Given the description of an element on the screen output the (x, y) to click on. 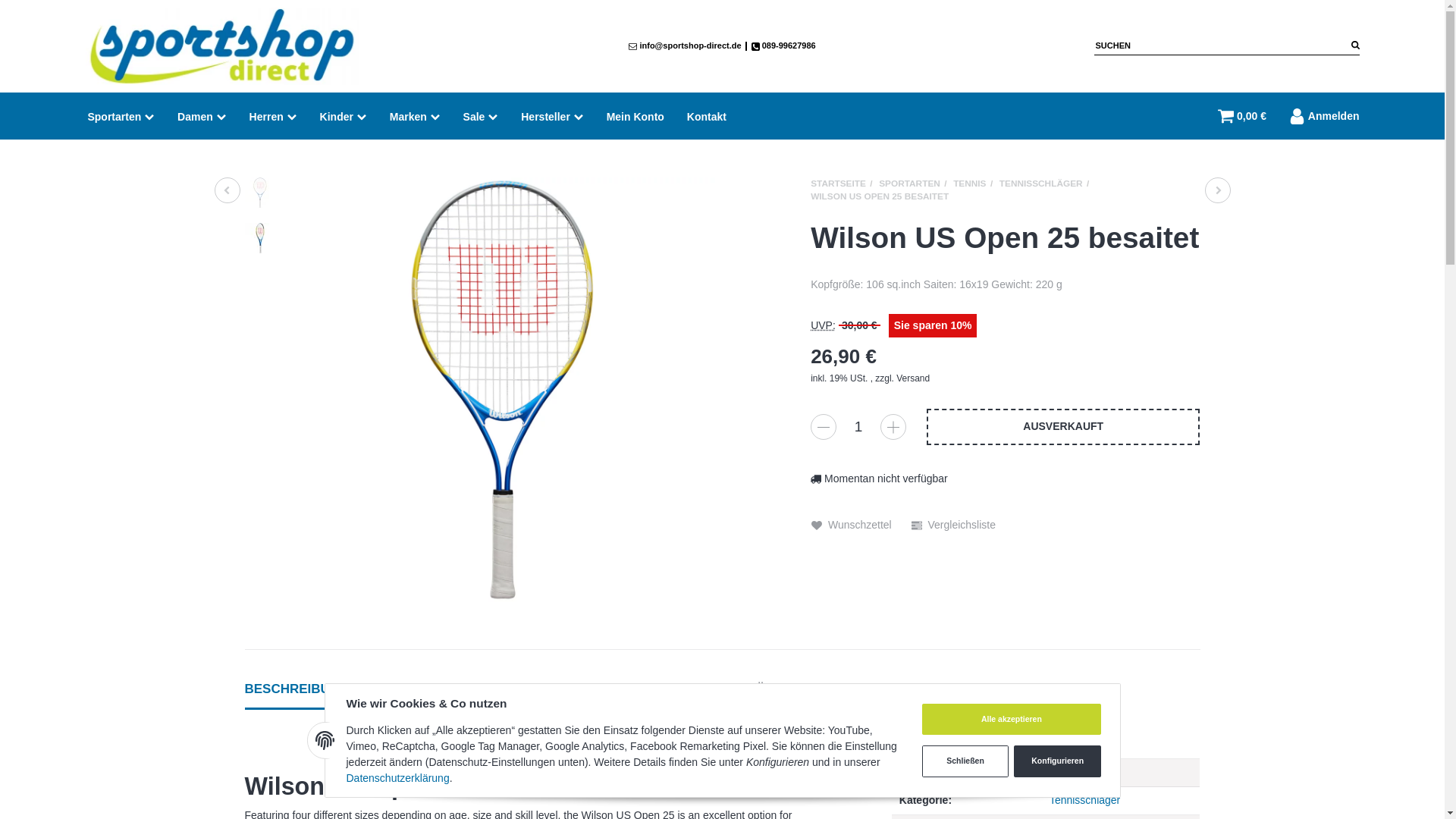
Warenkorb (1242, 115)
089-99627986 (783, 46)
Kontaktformular (706, 115)
1 (858, 426)
Anmelden (1318, 115)
Sportarten (120, 115)
sportshop-direct.de (221, 46)
